Given the description of an element on the screen output the (x, y) to click on. 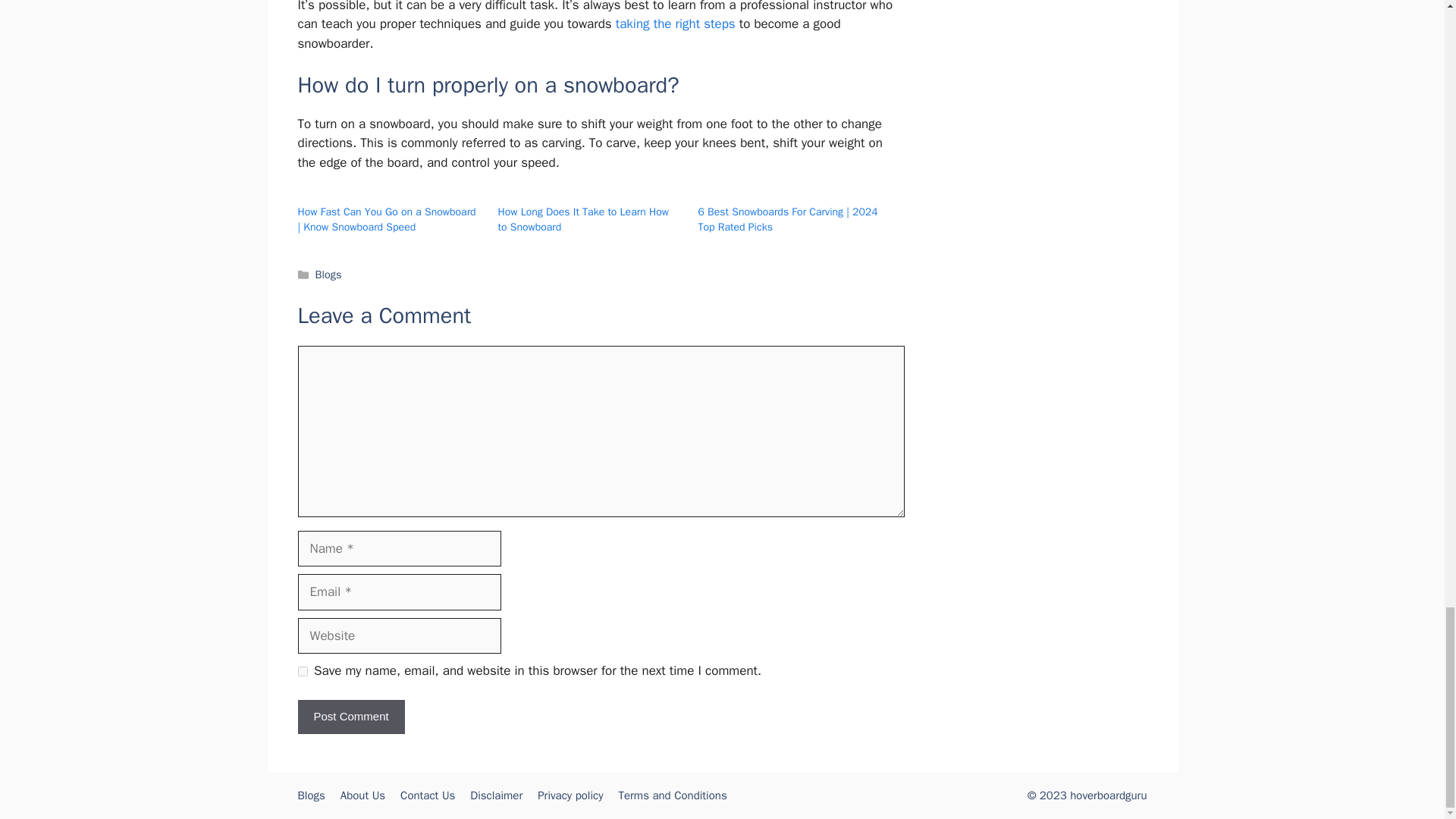
yes (302, 671)
Post Comment (350, 716)
Blogs (328, 274)
How Long Does It Take to Learn How to Snowboard (582, 219)
Post Comment (350, 716)
taking the right steps (675, 23)
